Given the description of an element on the screen output the (x, y) to click on. 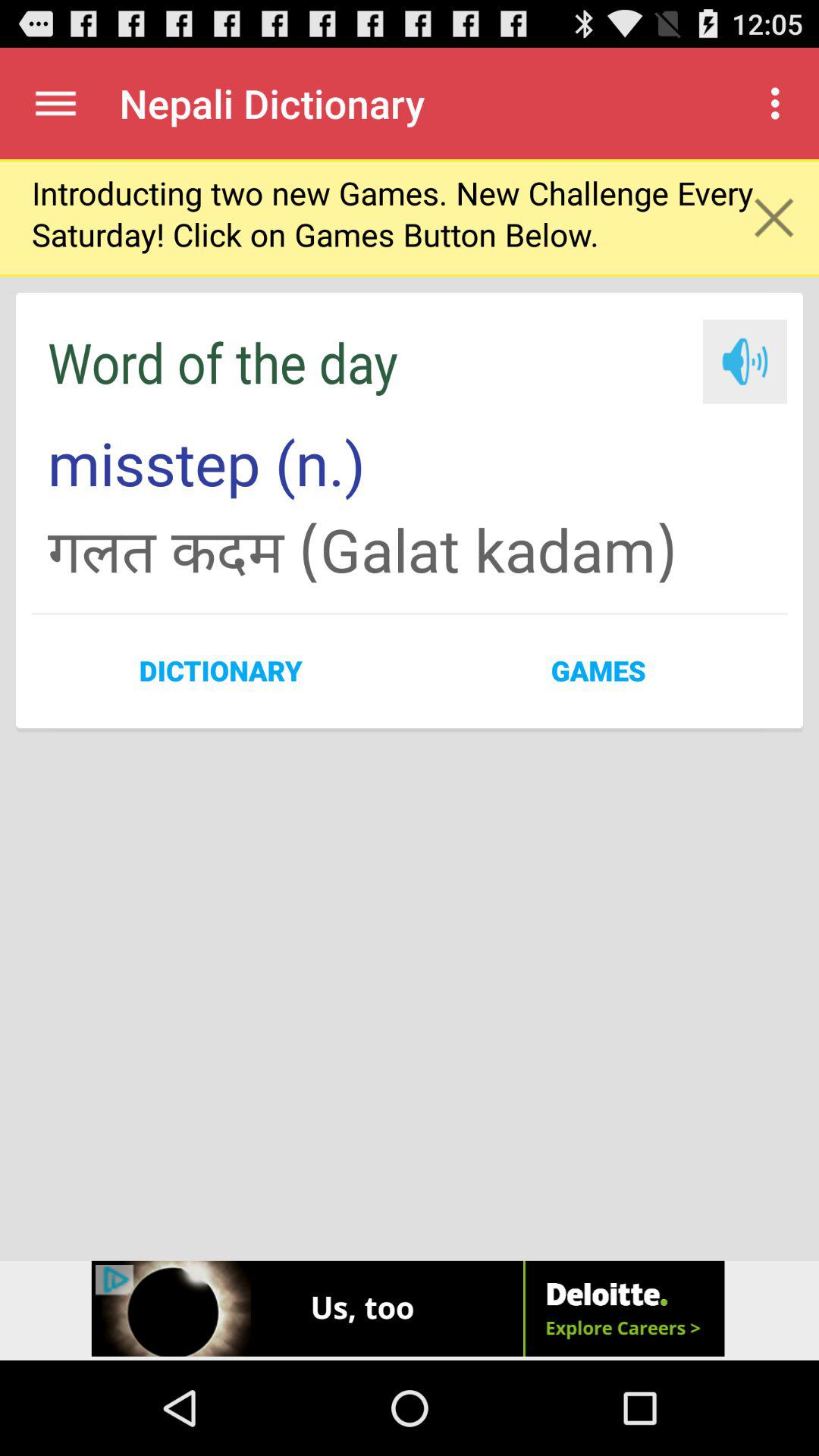
select the button below dictionary (409, 1310)
